Given the description of an element on the screen output the (x, y) to click on. 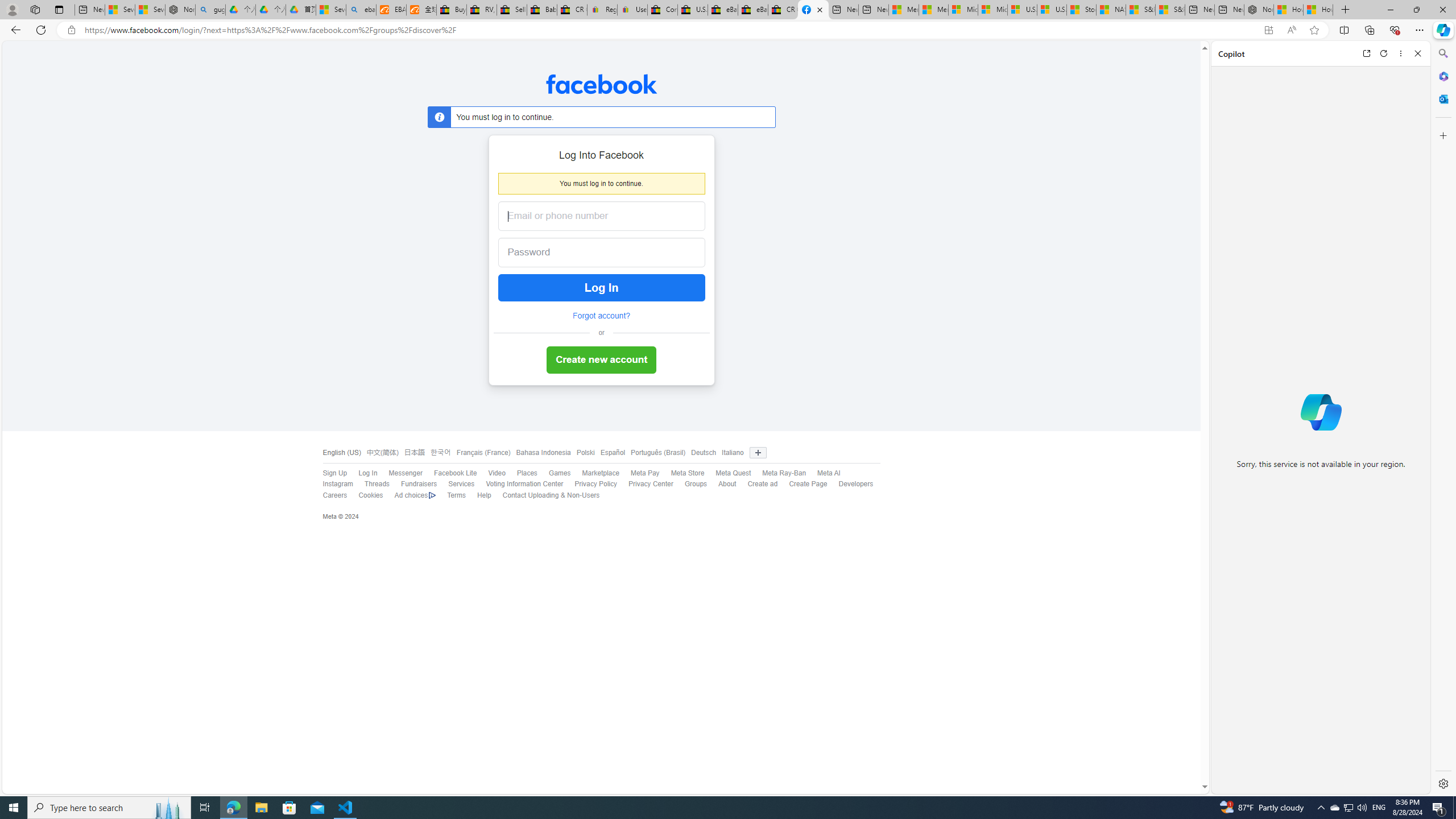
Log In (361, 473)
User Privacy Notice | eBay (632, 9)
Meta Store (681, 473)
Deutsch (703, 452)
Sign Up (329, 473)
Baby Keepsakes & Announcements for sale | eBay (542, 9)
Developers (850, 484)
Side bar (1443, 418)
Buy Auto Parts & Accessories | eBay (450, 9)
Polski (585, 452)
